Given the description of an element on the screen output the (x, y) to click on. 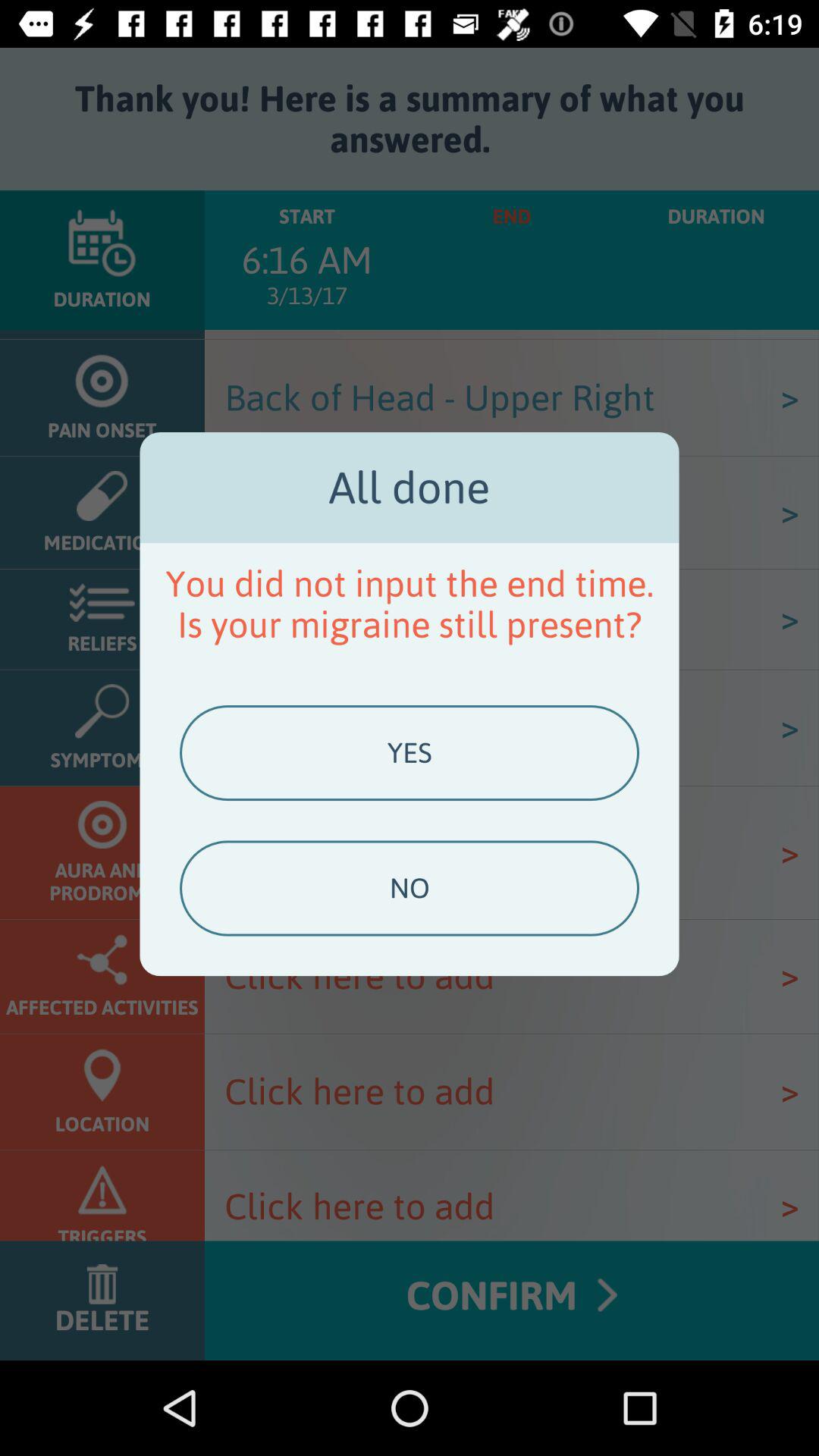
select you did not app (409, 604)
